Given the description of an element on the screen output the (x, y) to click on. 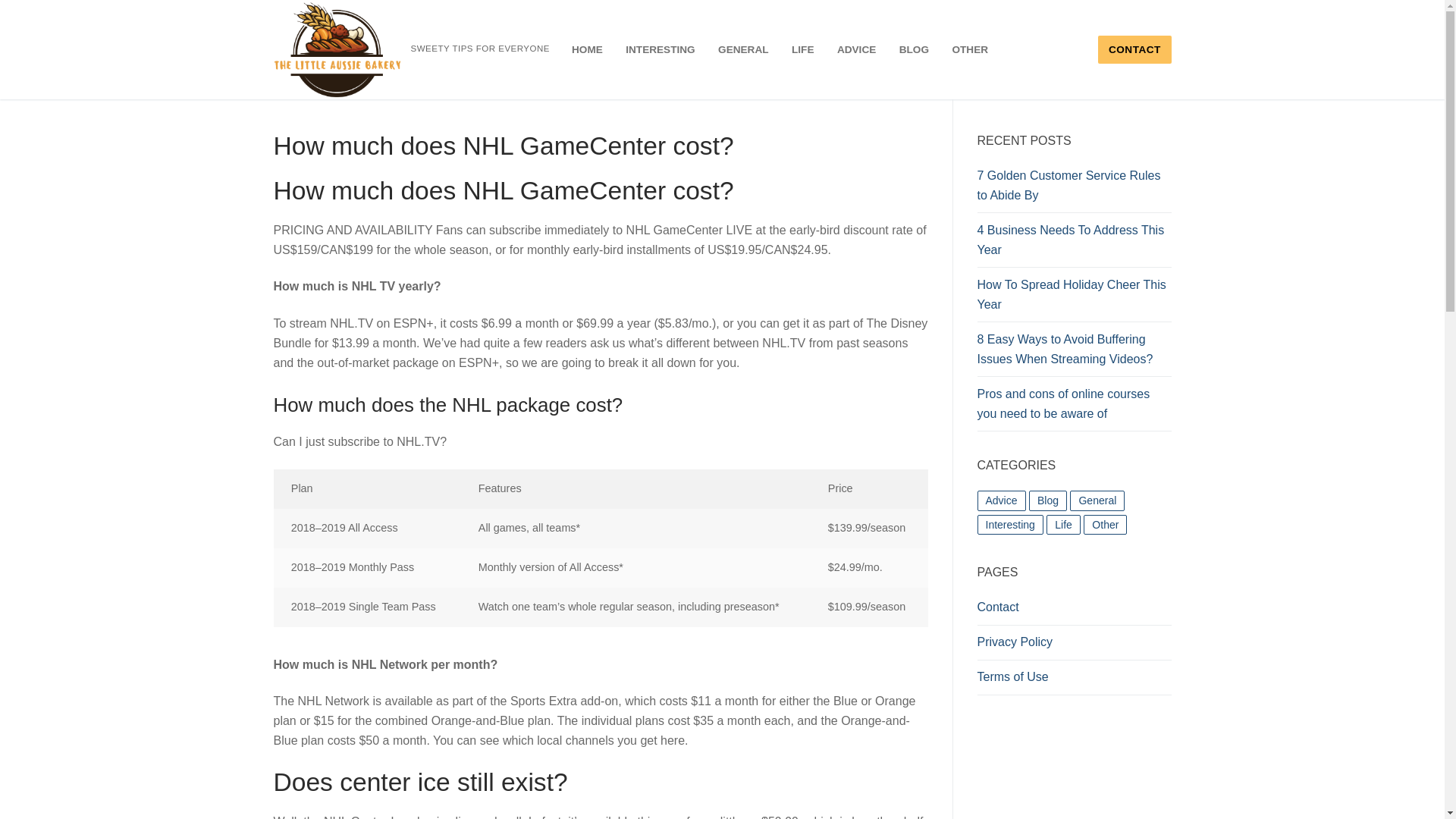
Life (1063, 525)
LIFE (802, 50)
CONTACT (1133, 49)
BLOG (914, 50)
How To Spread Holiday Cheer This Year (1073, 298)
8 Easy Ways to Avoid Buffering Issues When Streaming Videos? (1073, 353)
Facebook (5, 81)
Privacy Policy (1073, 646)
GENERAL (742, 50)
4 Business Needs To Address This Year (1073, 243)
